Given the description of an element on the screen output the (x, y) to click on. 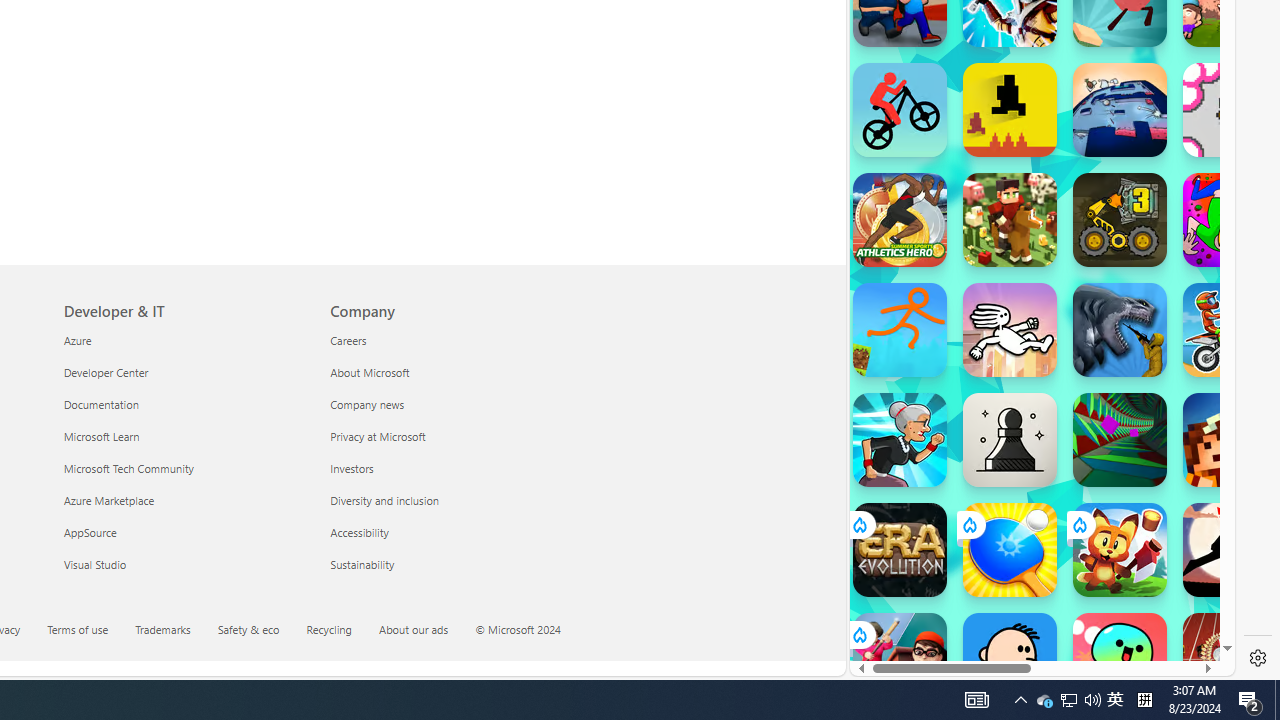
Moto X3M Moto X3M (1229, 329)
Recycling (341, 631)
Stickman Parkour Skyland (899, 329)
Into the Pit Into the Pit (1229, 109)
Classic Chess (1009, 439)
Combat Reloaded Combat Reloaded poki.com (1092, 245)
About our ads (413, 628)
Trademarks (174, 631)
Angry Gran Run Angry Gran Run (899, 439)
Diversity and inclusion (451, 499)
Safety & eco (260, 631)
Ping Pong Go! (1009, 549)
Dreadhead Parkour (1009, 329)
Sustainability (451, 564)
Stickman Parkour Skyland Stickman Parkour Skyland (899, 329)
